Given the description of an element on the screen output the (x, y) to click on. 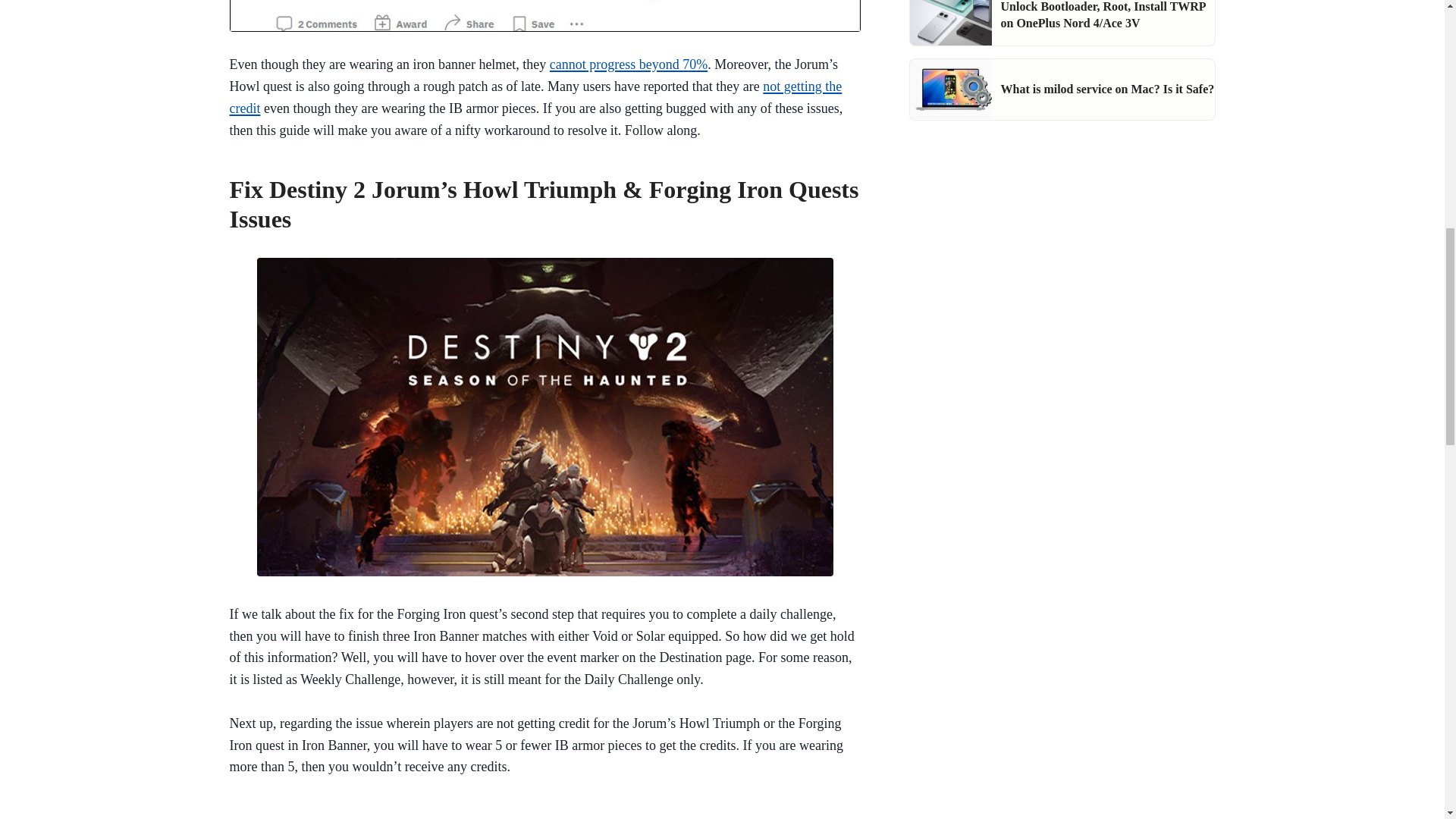
not getting the credit (534, 97)
